Given the description of an element on the screen output the (x, y) to click on. 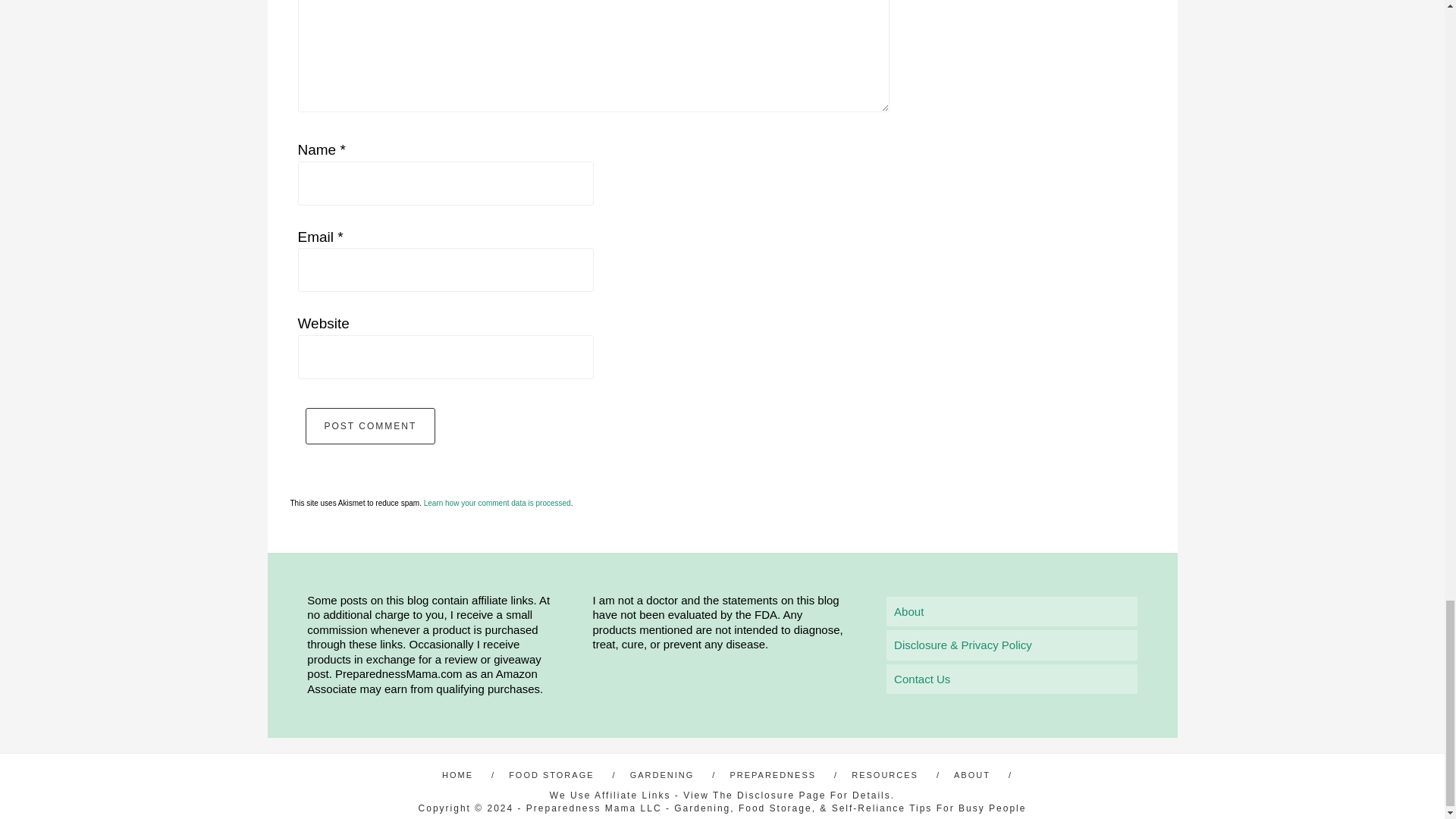
Post Comment (369, 425)
Preparedness Planning for Busy Moms (778, 775)
About PreparednessMama (908, 611)
